Given the description of an element on the screen output the (x, y) to click on. 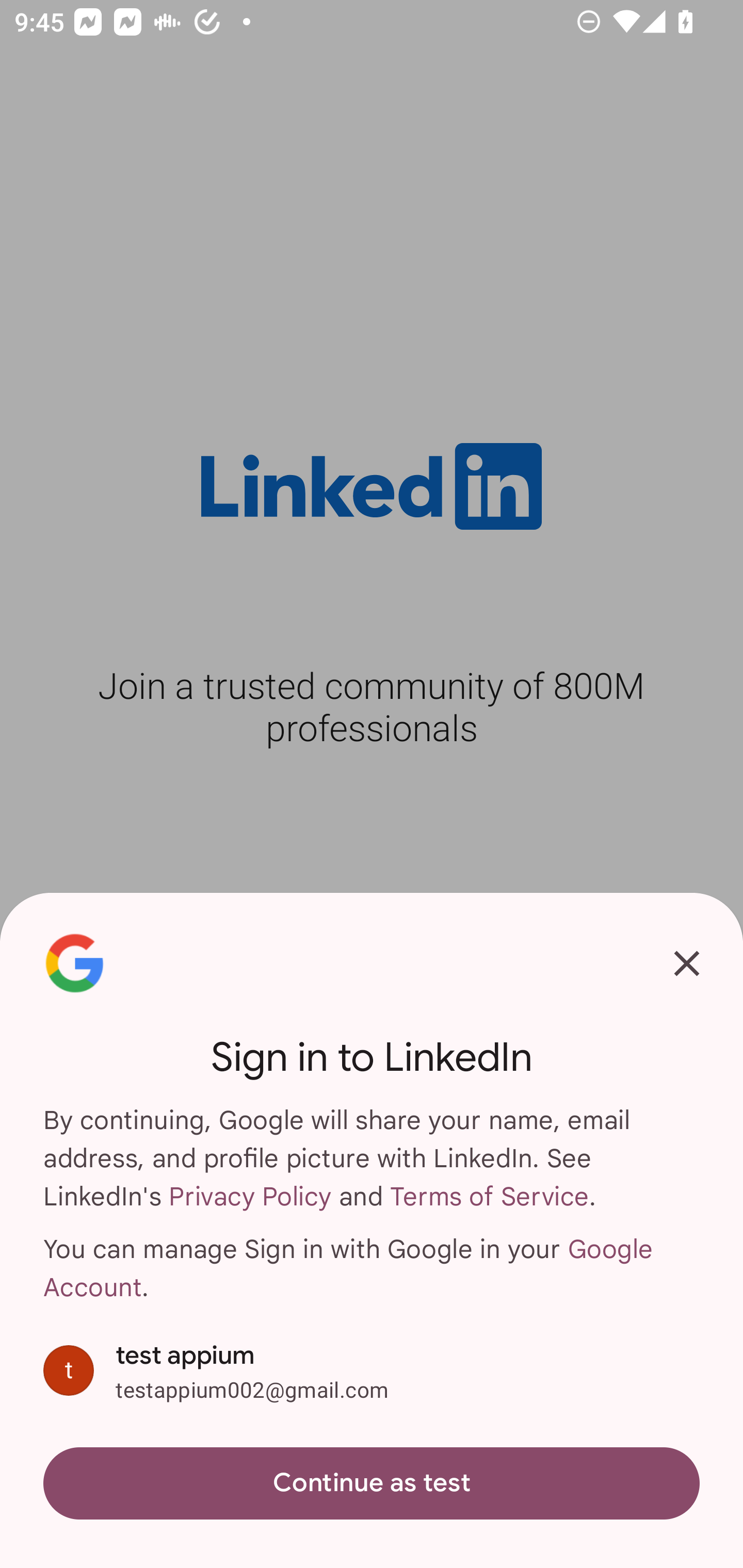
Cancel (686, 963)
Continue as test (371, 1483)
